Given the description of an element on the screen output the (x, y) to click on. 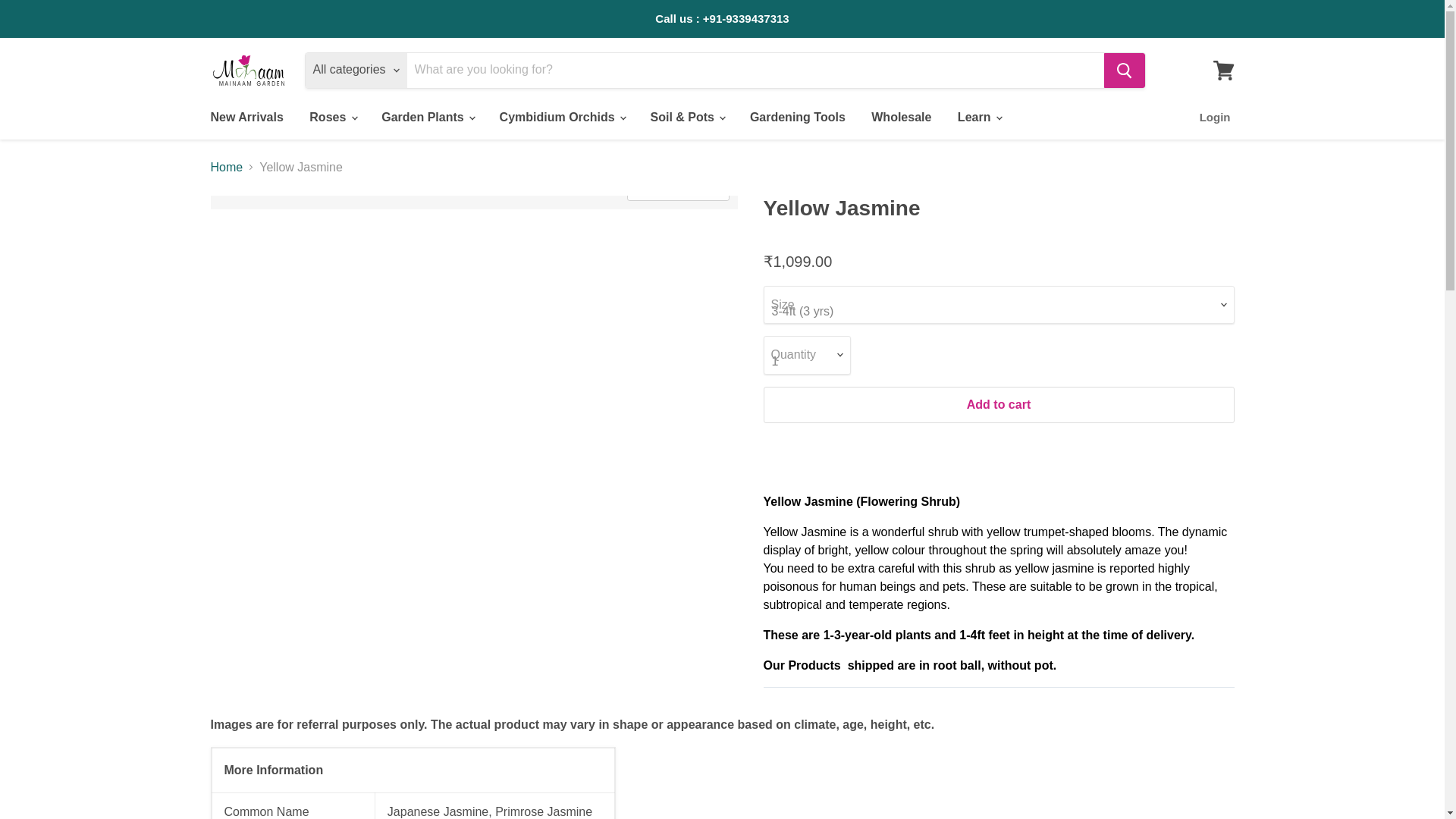
New Arrivals (246, 117)
Roses (332, 117)
View cart (1223, 70)
Garden Plants (426, 117)
Cymbidium Orchids (560, 117)
